Given the description of an element on the screen output the (x, y) to click on. 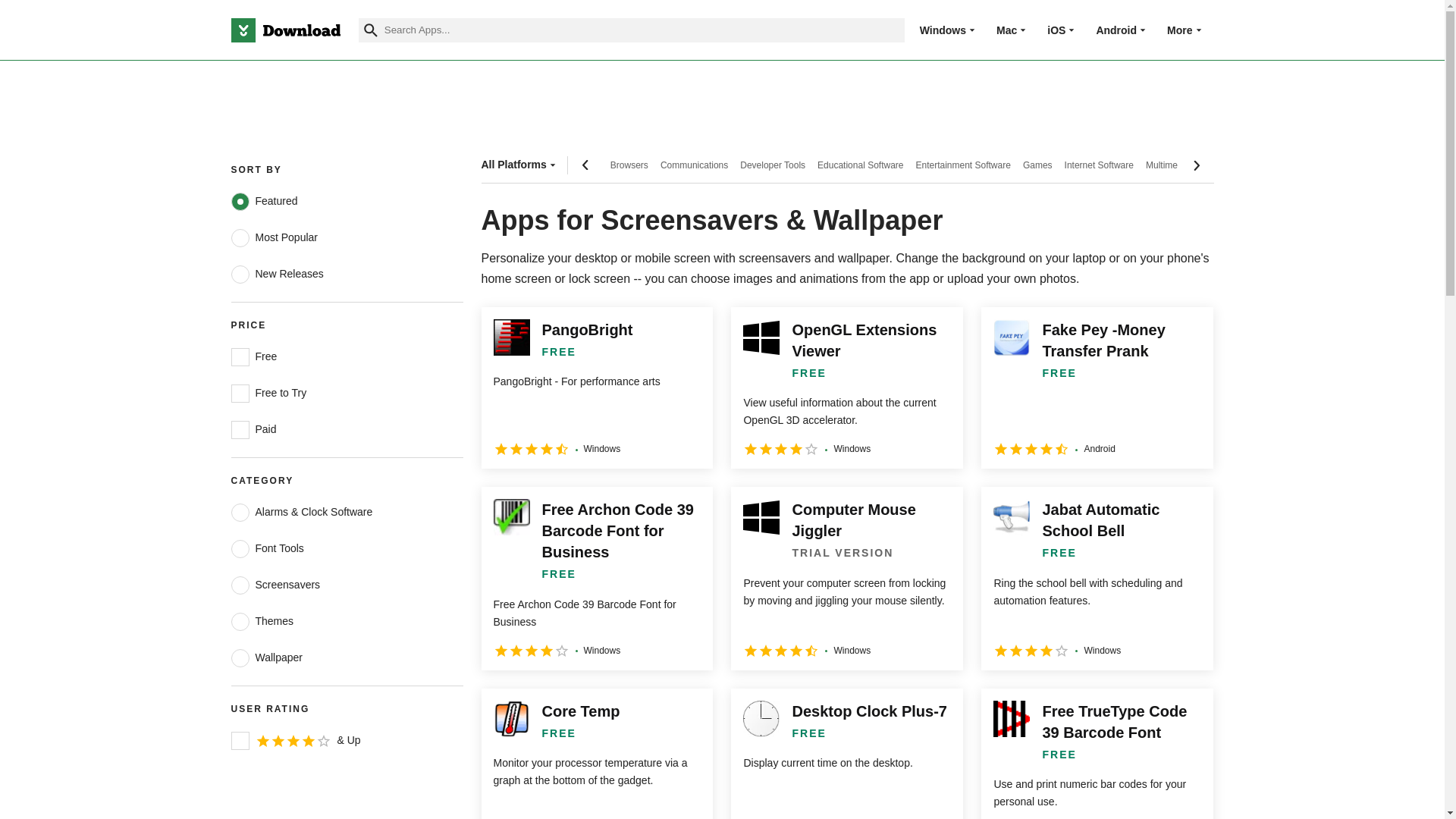
design-font-tools (239, 548)
alarms-clock-software (239, 512)
Windows (943, 29)
PangoBright (596, 387)
Free TrueType Code 39 Barcode Font (1096, 753)
4up (239, 741)
free (239, 357)
Jabat Automatic School Bell (1096, 577)
Free Archon Code 39 Barcode Font for Business (596, 577)
customization-screensavers (239, 585)
